Given the description of an element on the screen output the (x, y) to click on. 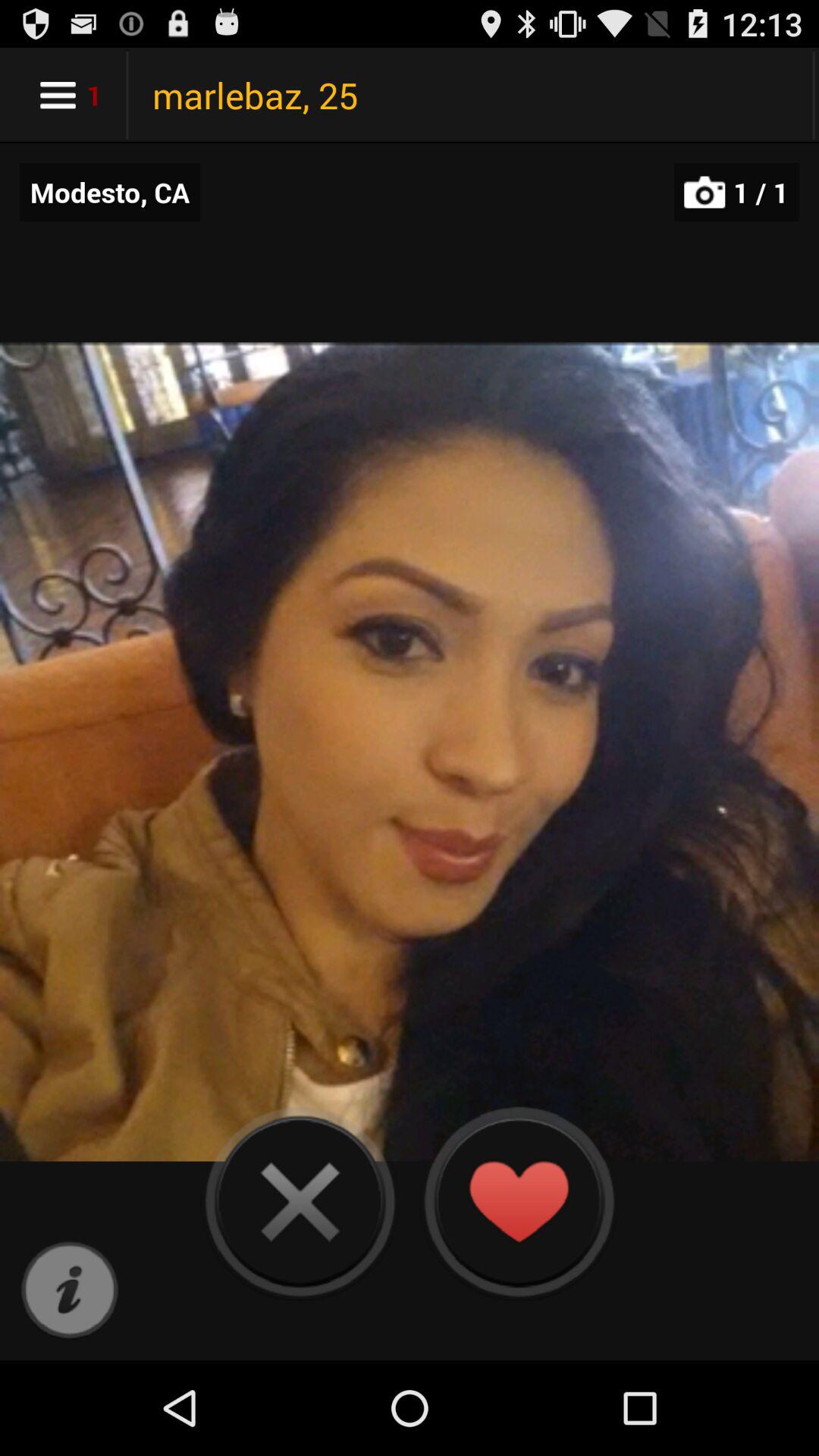
more information (69, 1290)
